Given the description of an element on the screen output the (x, y) to click on. 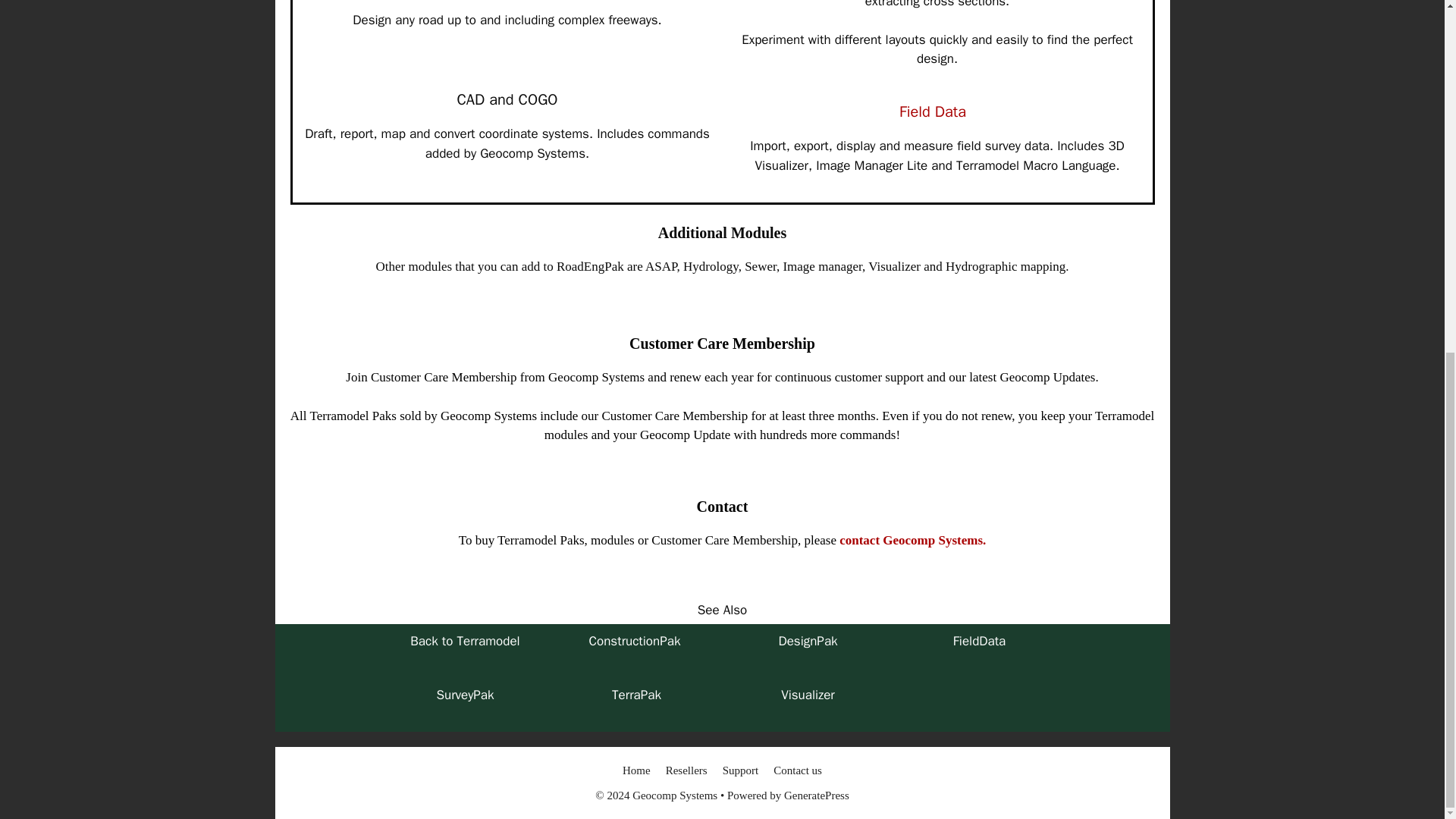
contact Geocomp Systems. (912, 540)
Visualizer (807, 694)
TerraPak (636, 694)
ConstructionPak  (636, 641)
DesignPak (807, 641)
Field Data (932, 111)
FieldData (979, 641)
Resellers (686, 770)
Support (740, 770)
Home (636, 770)
SurveyPak (464, 694)
Back to Terramodel (464, 641)
GeneratePress (816, 795)
Contact us (797, 770)
